Given the description of an element on the screen output the (x, y) to click on. 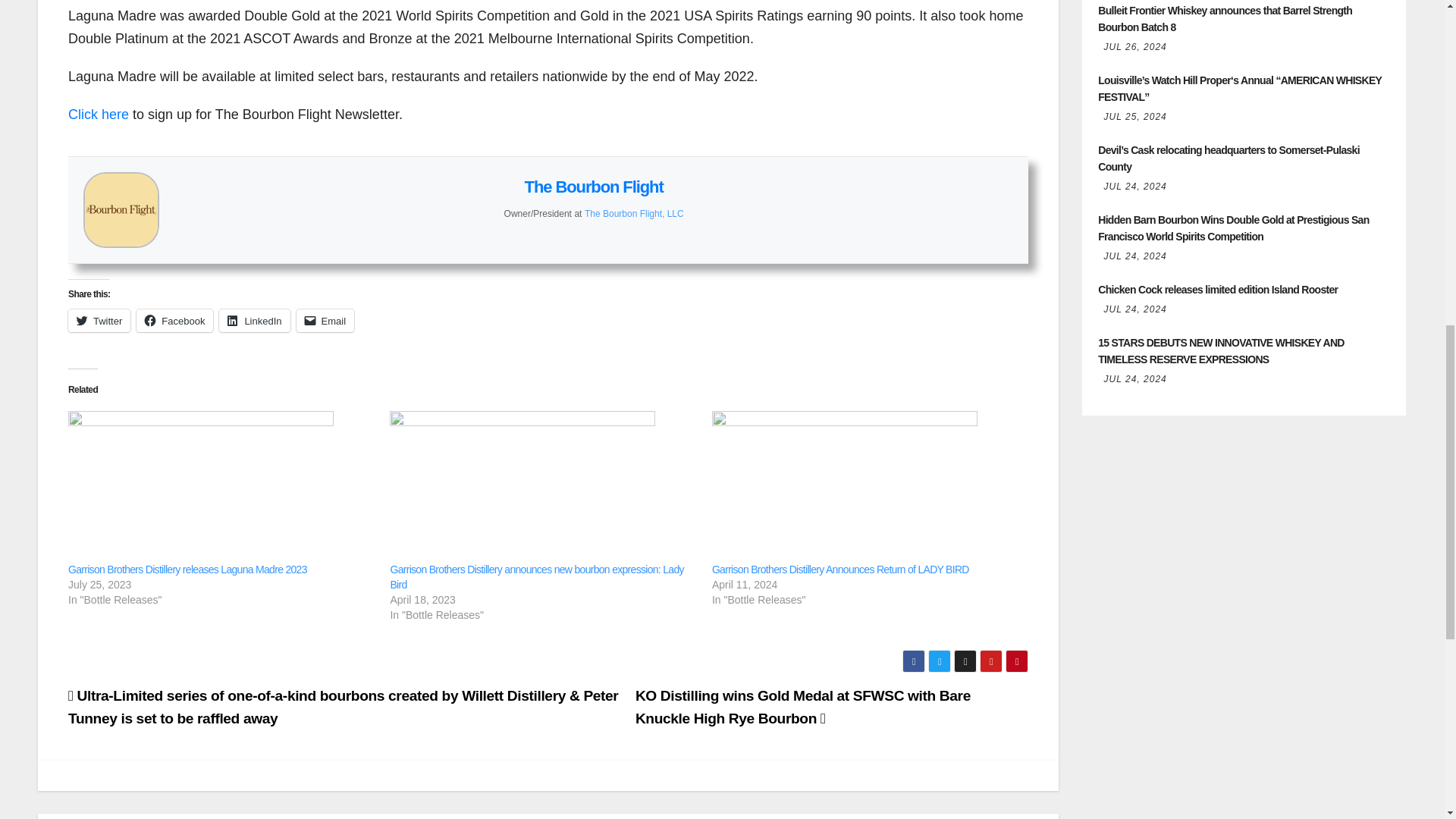
The Bourbon Flight (593, 186)
Click here (98, 114)
